Given the description of an element on the screen output the (x, y) to click on. 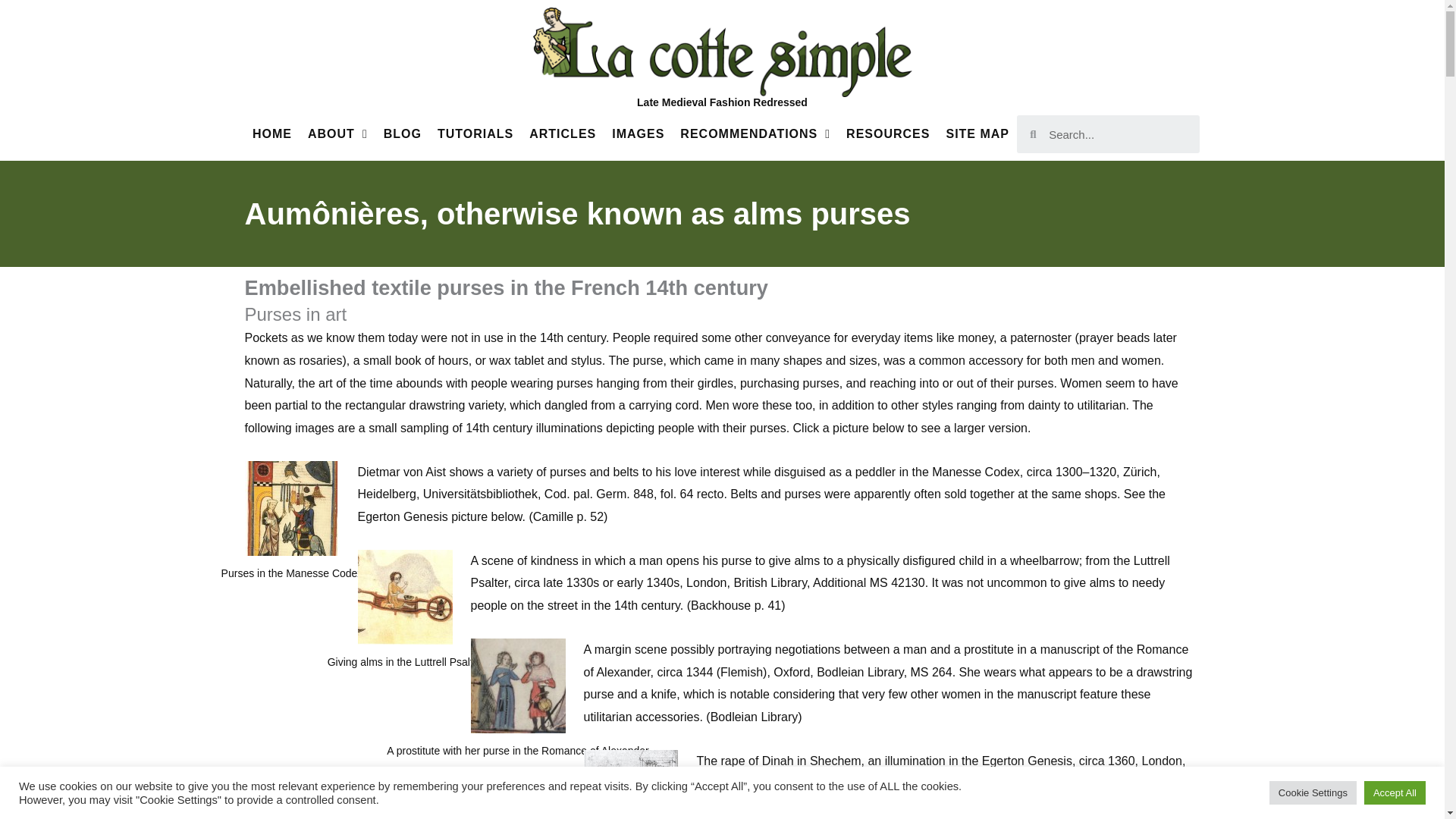
BLOG (402, 134)
IMAGES (638, 134)
Search (1117, 134)
Giving alms in the Luttrell Psalter (405, 596)
TUTORIALS (475, 134)
ARTICLES (562, 134)
Purses in the Manesse Codex (291, 508)
RECOMMENDATIONS (755, 134)
RESOURCES (887, 134)
Rape of Dinah, Egerton Genesis (630, 784)
ABOUT (337, 134)
SITE MAP (977, 134)
HOME (271, 134)
A prostitute with her purse in the Romance of Alexander (517, 685)
